Given the description of an element on the screen output the (x, y) to click on. 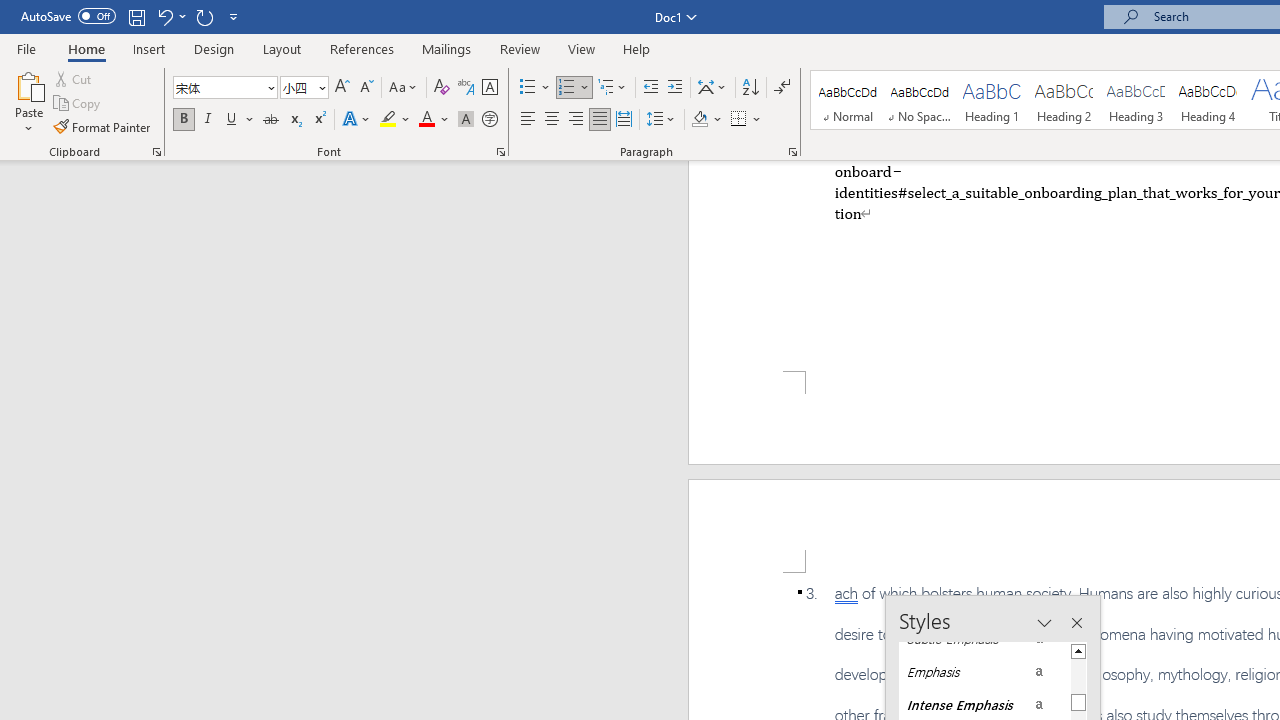
Heading 3 (1135, 100)
Repeat Style (204, 15)
